Given the description of an element on the screen output the (x, y) to click on. 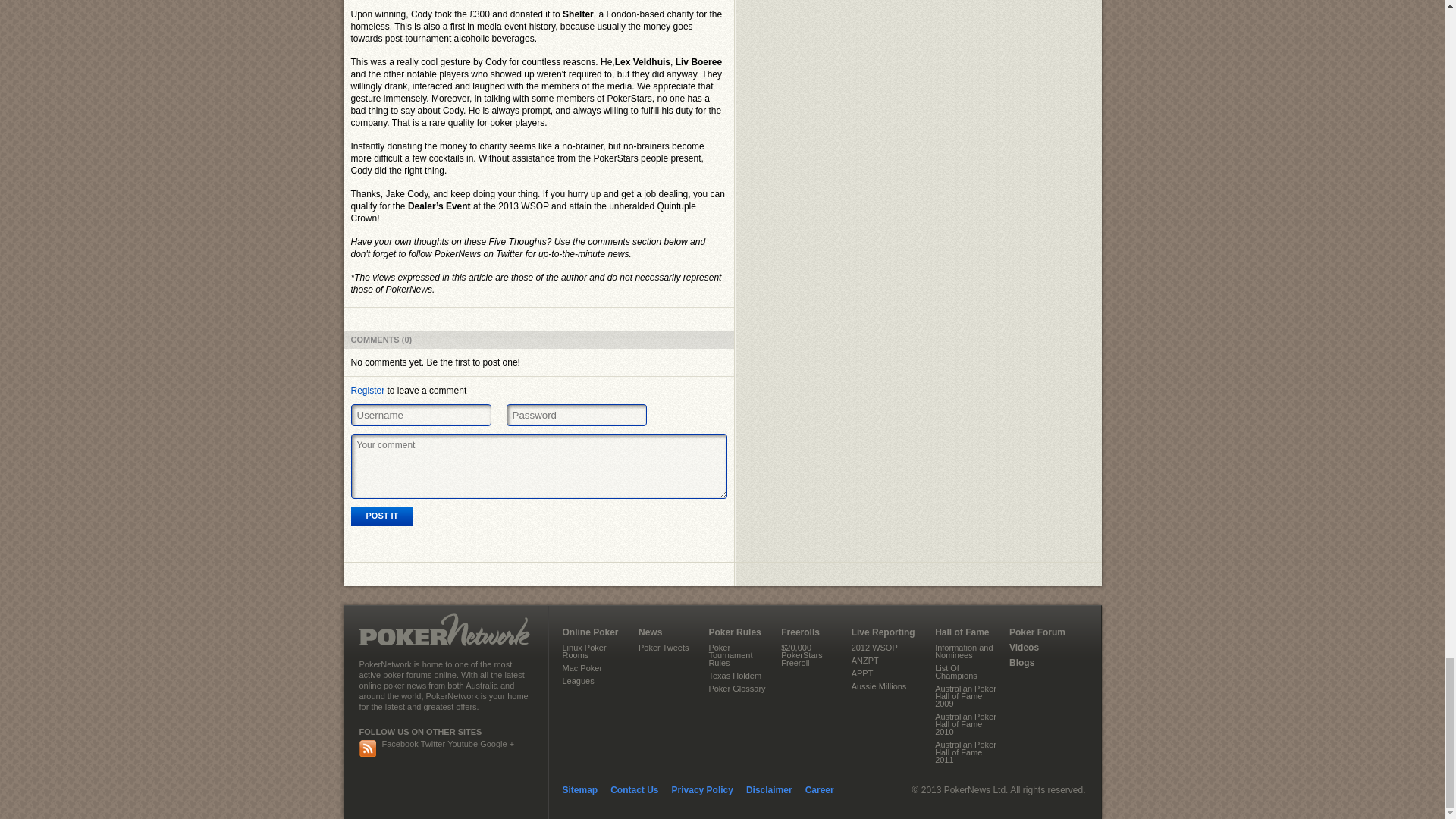
Post it (381, 515)
